Given the description of an element on the screen output the (x, y) to click on. 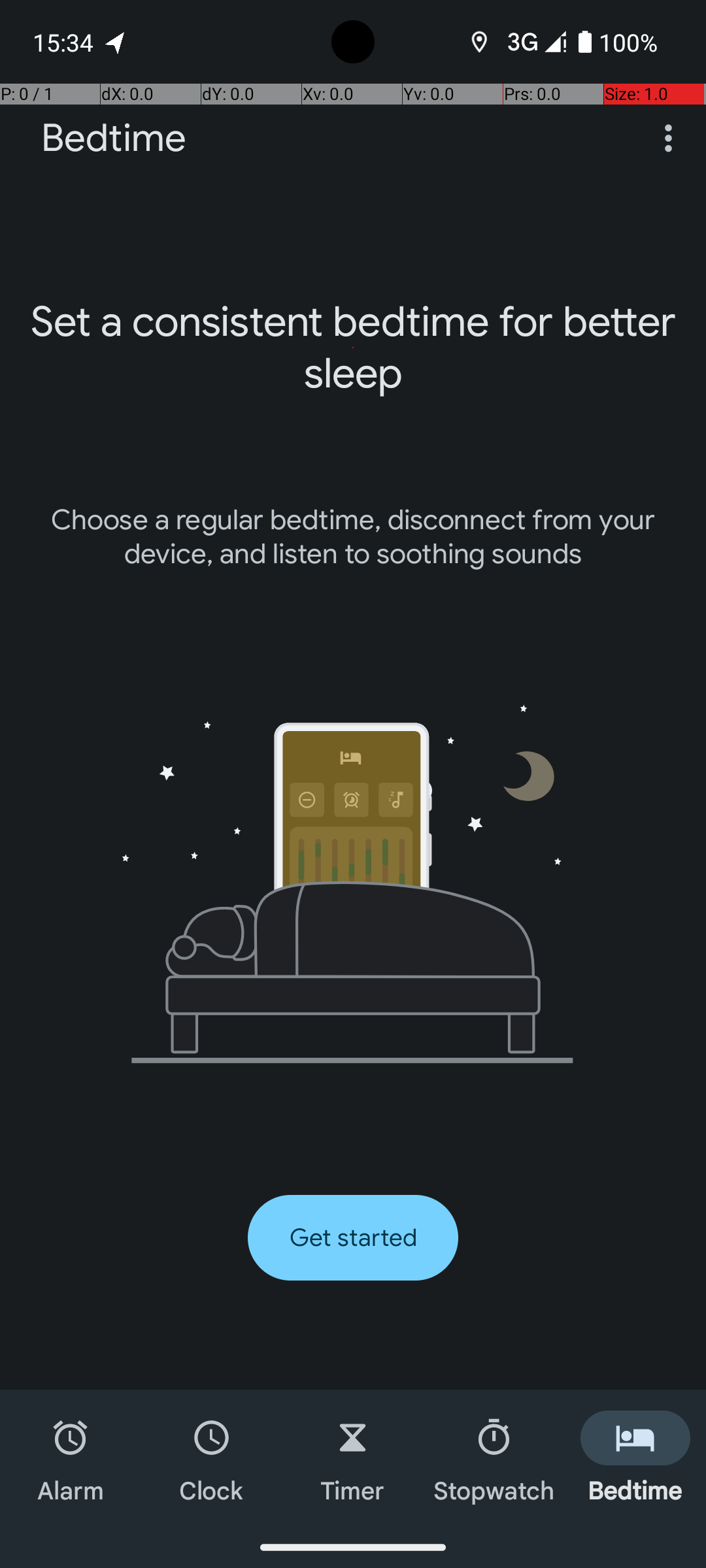
Set a consistent bedtime for better sleep Element type: android.widget.TextView (352, 347)
Choose a regular bedtime, disconnect from your device, and listen to soothing sounds Element type: android.widget.TextView (352, 536)
Get started Element type: android.widget.Button (352, 1237)
OpenTracks notification: Distance: 0.00 ft Element type: android.widget.ImageView (115, 41)
